Given the description of an element on the screen output the (x, y) to click on. 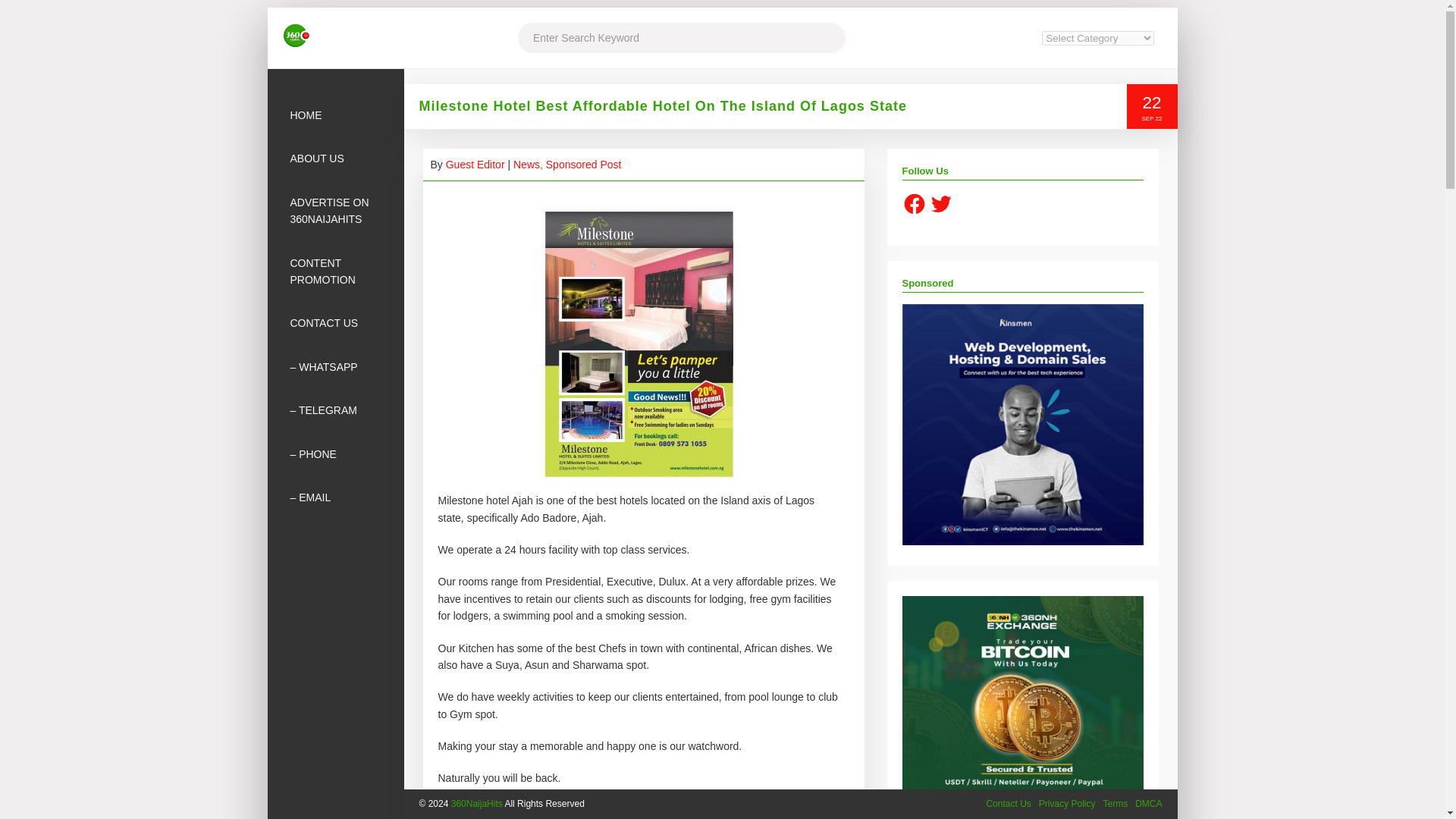
ABOUT US (334, 158)
Twitter (940, 203)
CONTENT PROMOTION (334, 271)
Posts by Guest Editor (475, 164)
CONTACT US (334, 323)
News (526, 164)
Guest Editor (475, 164)
Facebook (914, 203)
ADVERTISE ON 360NAIJAHITS (334, 210)
HOME (334, 115)
Sponsored Post (583, 164)
